Given the description of an element on the screen output the (x, y) to click on. 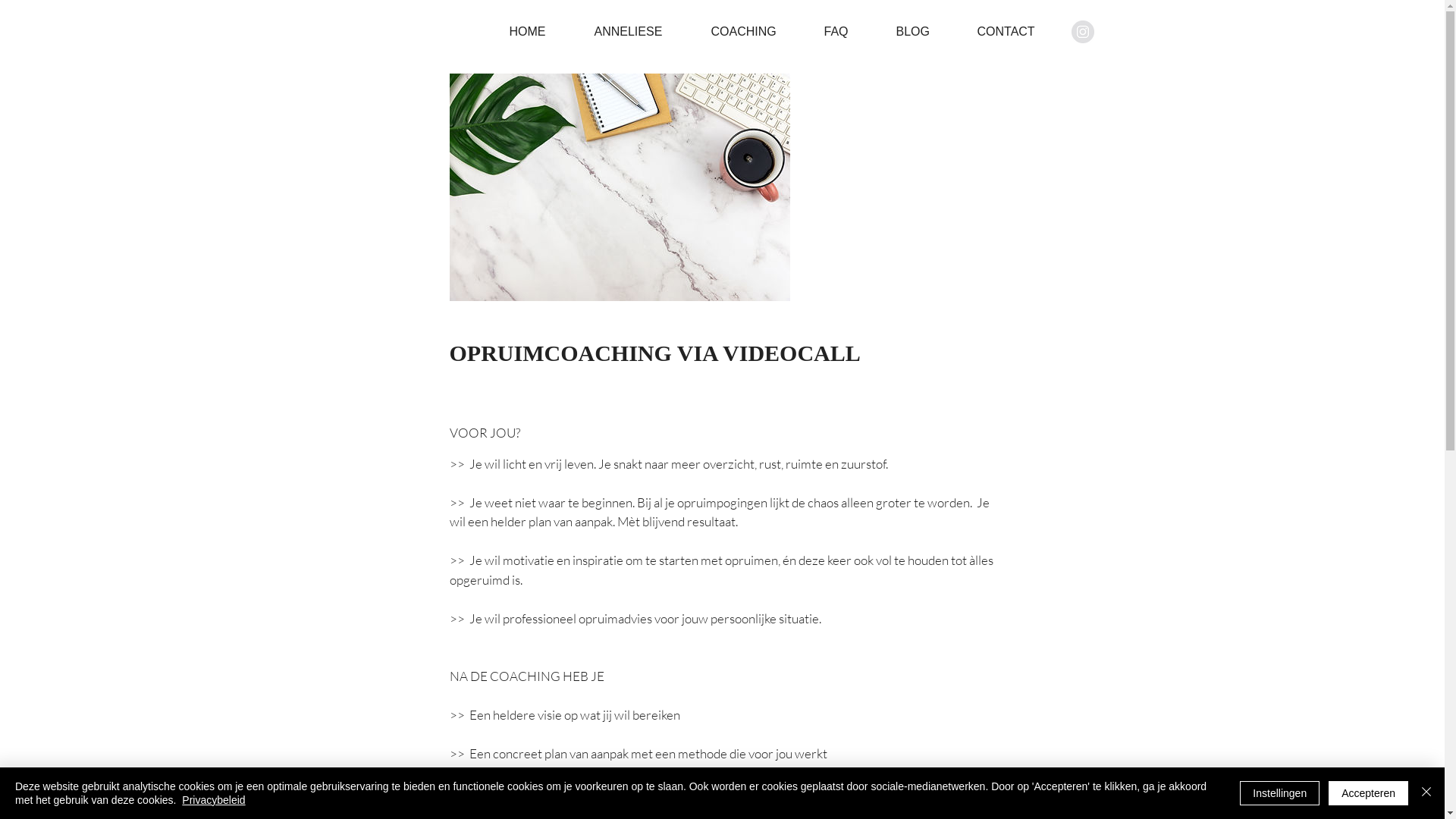
FAQ Element type: text (848, 30)
COACHING Element type: text (755, 30)
Privacybeleid Element type: text (213, 799)
HOME Element type: text (539, 30)
CONTACT Element type: text (1018, 30)
Instellingen Element type: text (1279, 793)
BLOG Element type: text (924, 30)
ANNELIESE Element type: text (640, 30)
Accepteren Element type: text (1368, 793)
